Given the description of an element on the screen output the (x, y) to click on. 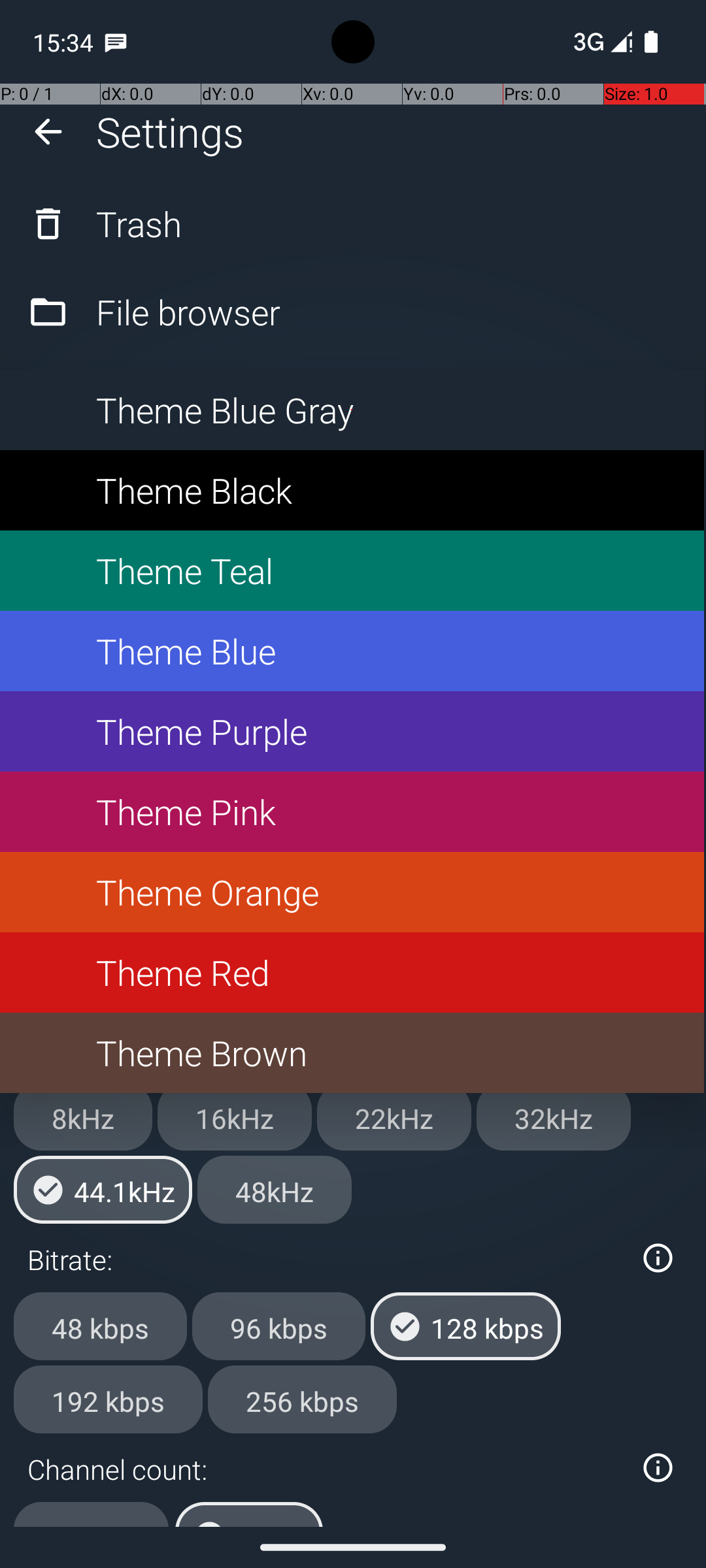
Theme Black Element type: android.widget.TextView (352, 490)
Theme Teal Element type: android.widget.TextView (352, 570)
Theme Blue Element type: android.widget.TextView (352, 650)
Theme Purple Element type: android.widget.TextView (352, 731)
Theme Pink Element type: android.widget.TextView (352, 811)
Theme Orange Element type: android.widget.TextView (352, 891)
Theme Red Element type: android.widget.TextView (352, 972)
Theme Brown Element type: android.widget.TextView (352, 1052)
SMS Messenger notification: Petar Gonzalez Element type: android.widget.ImageView (115, 41)
